Given the description of an element on the screen output the (x, y) to click on. 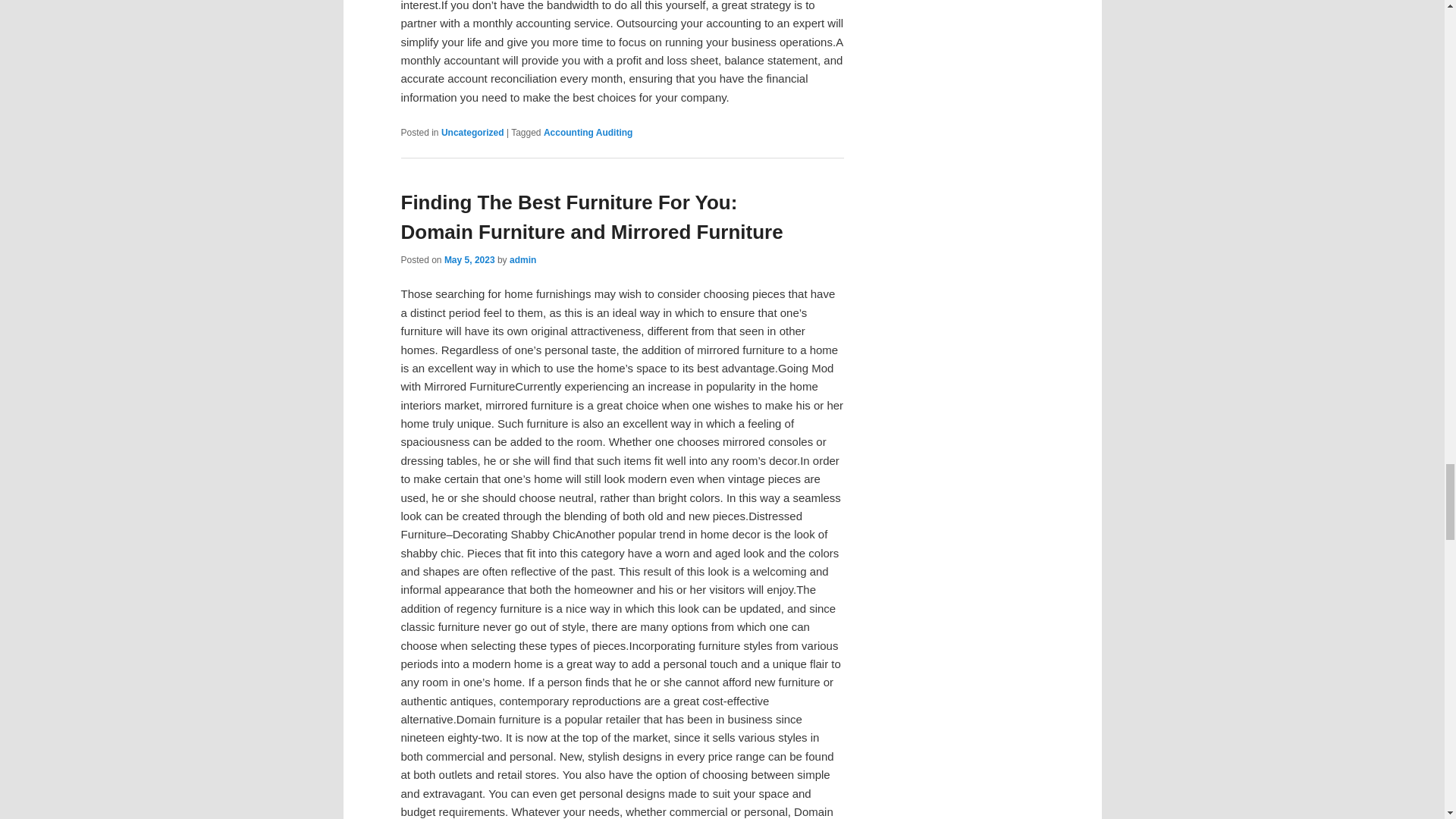
11:17 pm (469, 259)
Uncategorized (472, 132)
admin (522, 259)
May 5, 2023 (469, 259)
View all posts by admin (522, 259)
Accounting Auditing (588, 132)
View all posts in Uncategorized (472, 132)
